Given the description of an element on the screen output the (x, y) to click on. 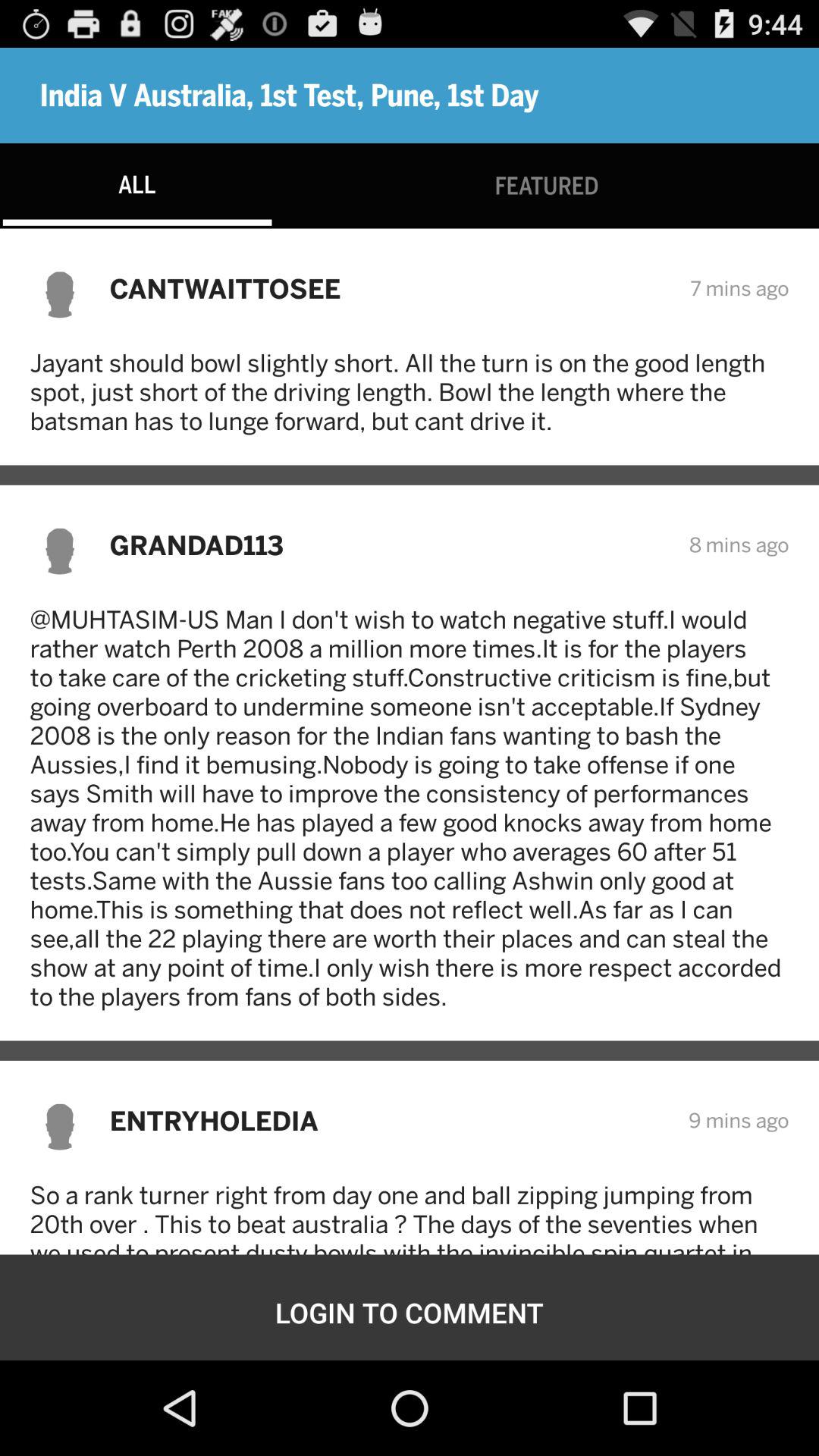
scroll to grandad113 icon (389, 544)
